Given the description of an element on the screen output the (x, y) to click on. 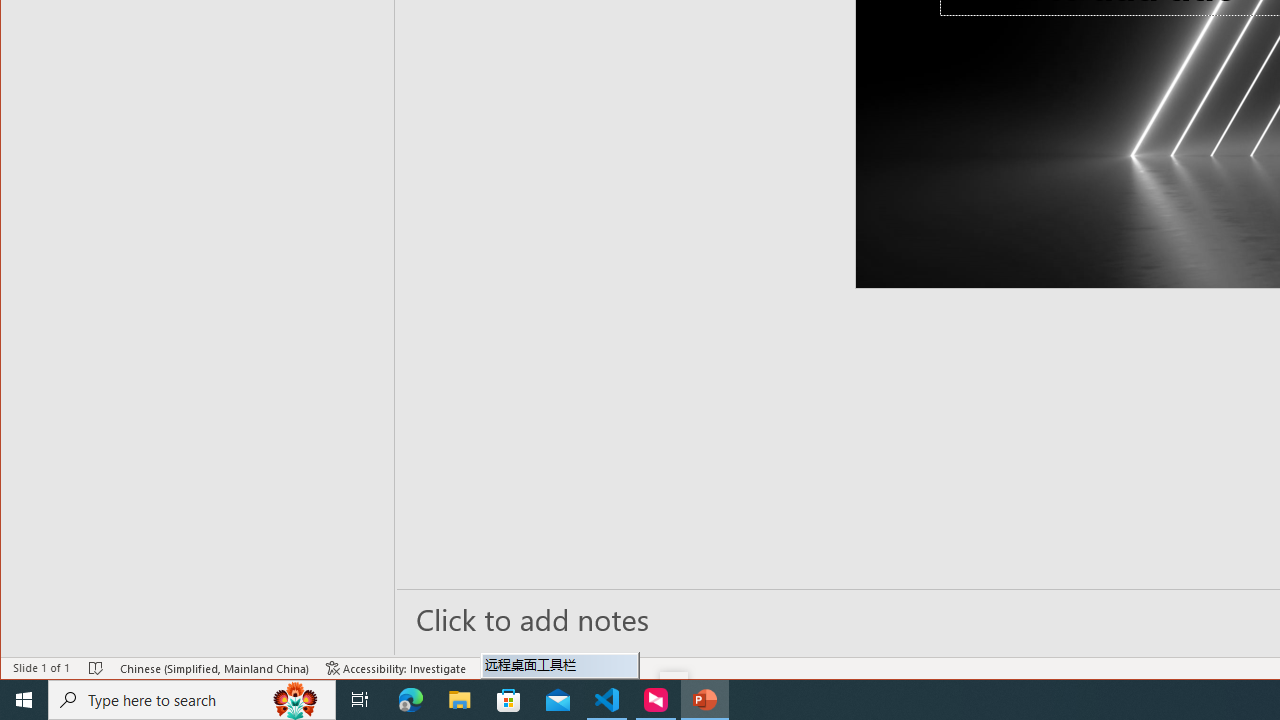
Microsoft Edge (411, 699)
